Given the description of an element on the screen output the (x, y) to click on. 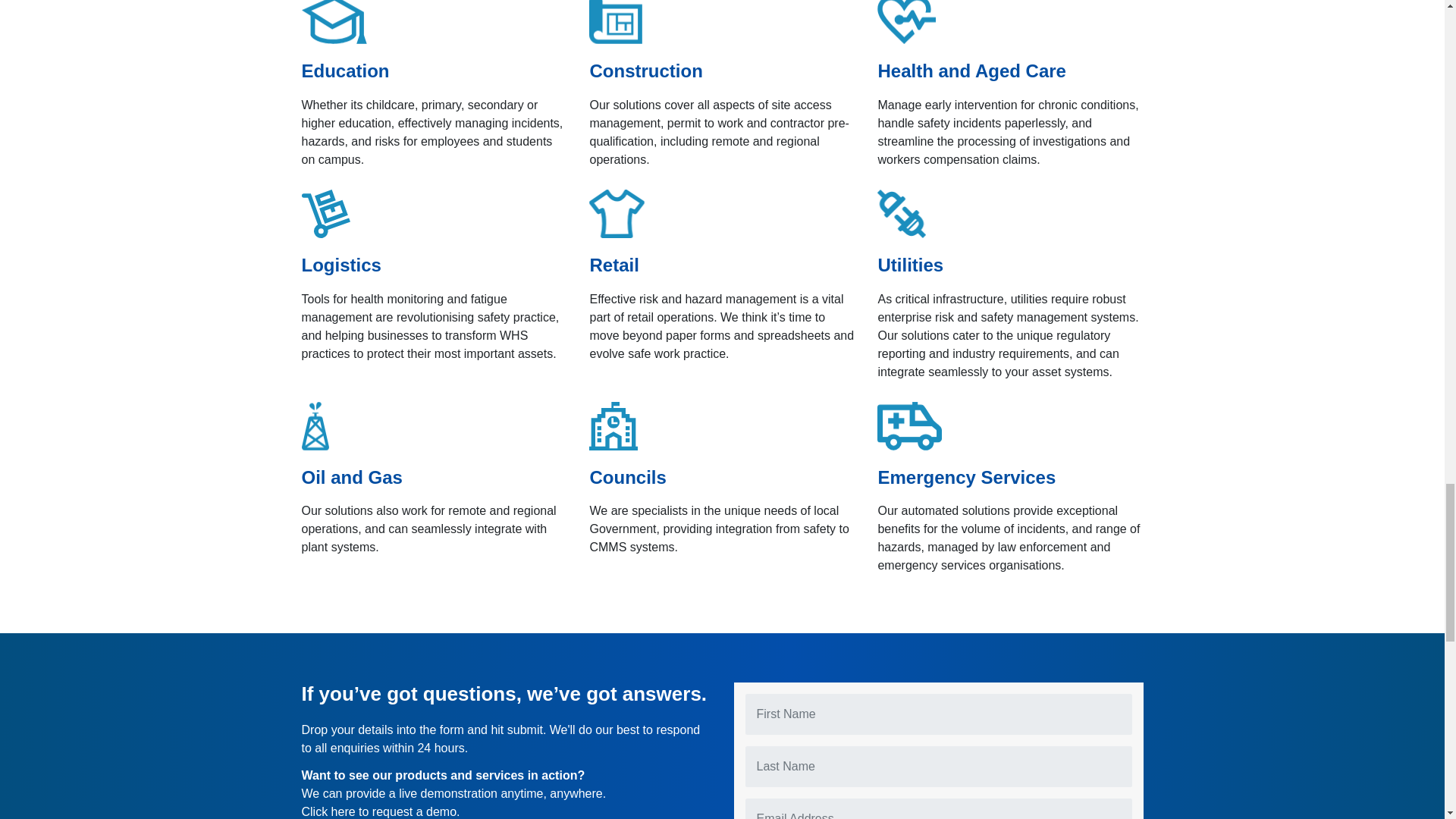
Click here to request a demo. (380, 811)
